Given the description of an element on the screen output the (x, y) to click on. 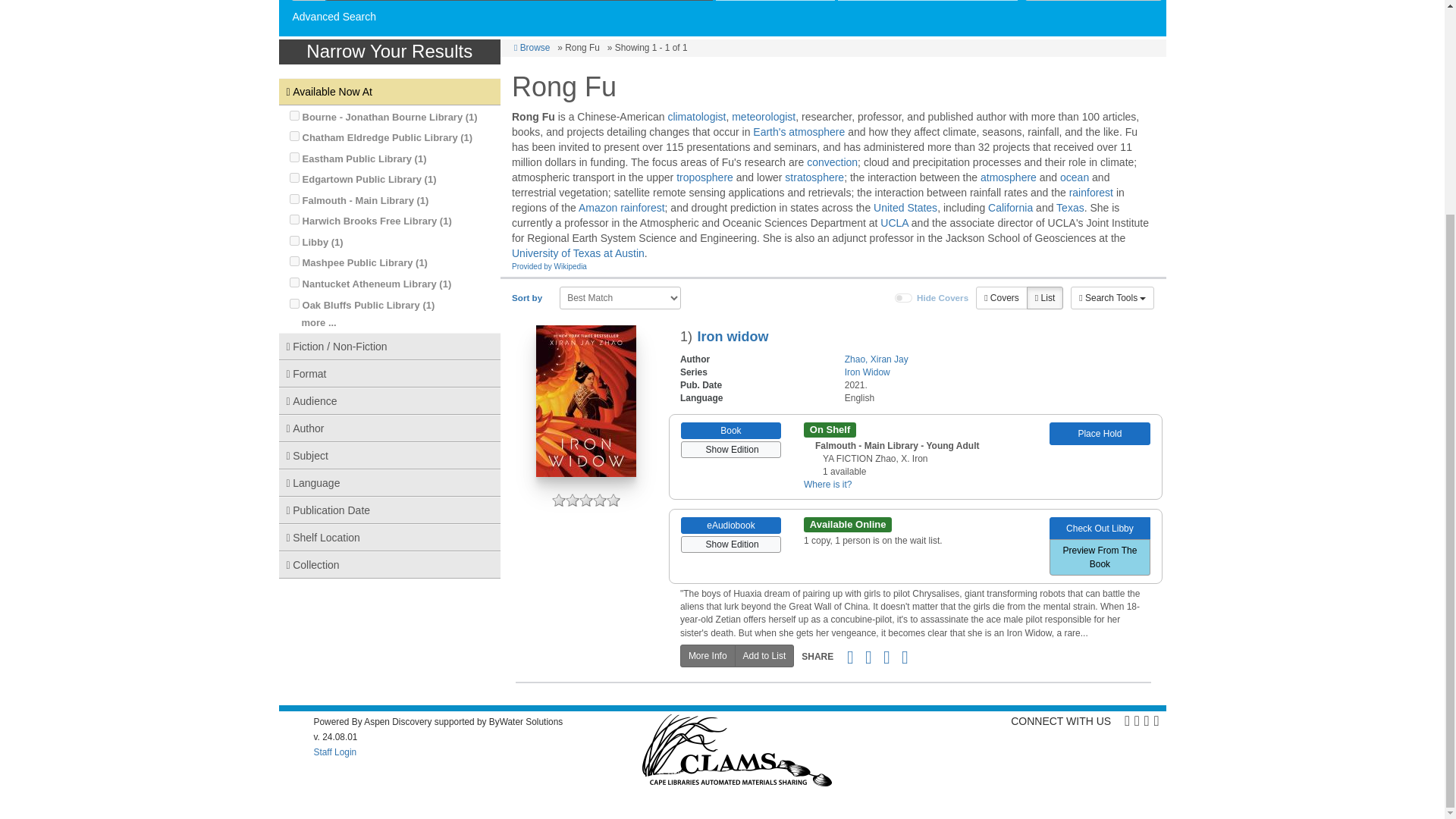
Advanced Search (334, 16)
more ... (318, 322)
on (294, 240)
on (294, 303)
on (294, 157)
on (294, 261)
on (294, 282)
on (903, 297)
